Given the description of an element on the screen output the (x, y) to click on. 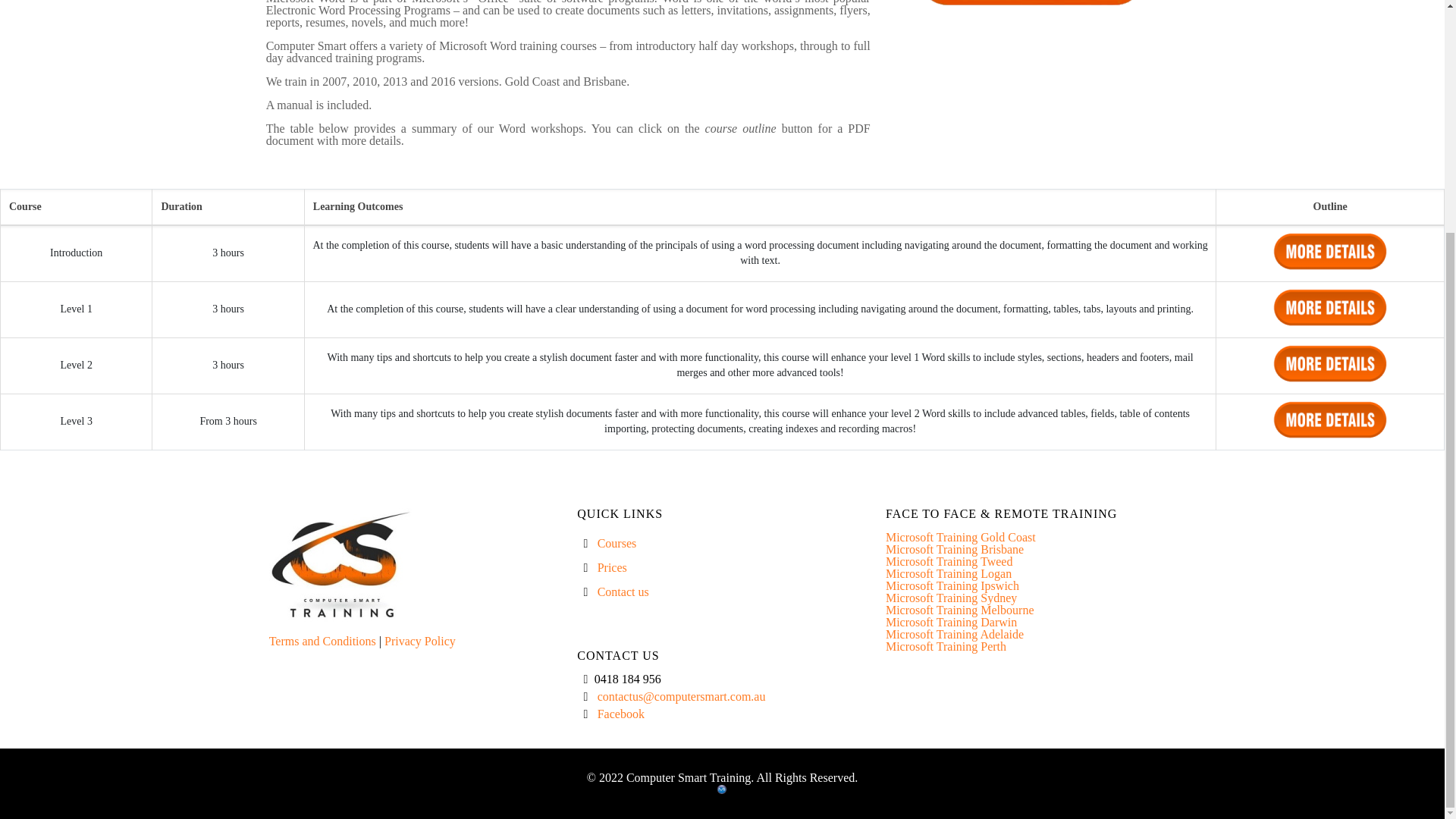
course-outline (1329, 363)
course-outline (1329, 251)
course-outline (1329, 307)
Book-now-orange-button (1030, 4)
course-outline (1329, 419)
